Given the description of an element on the screen output the (x, y) to click on. 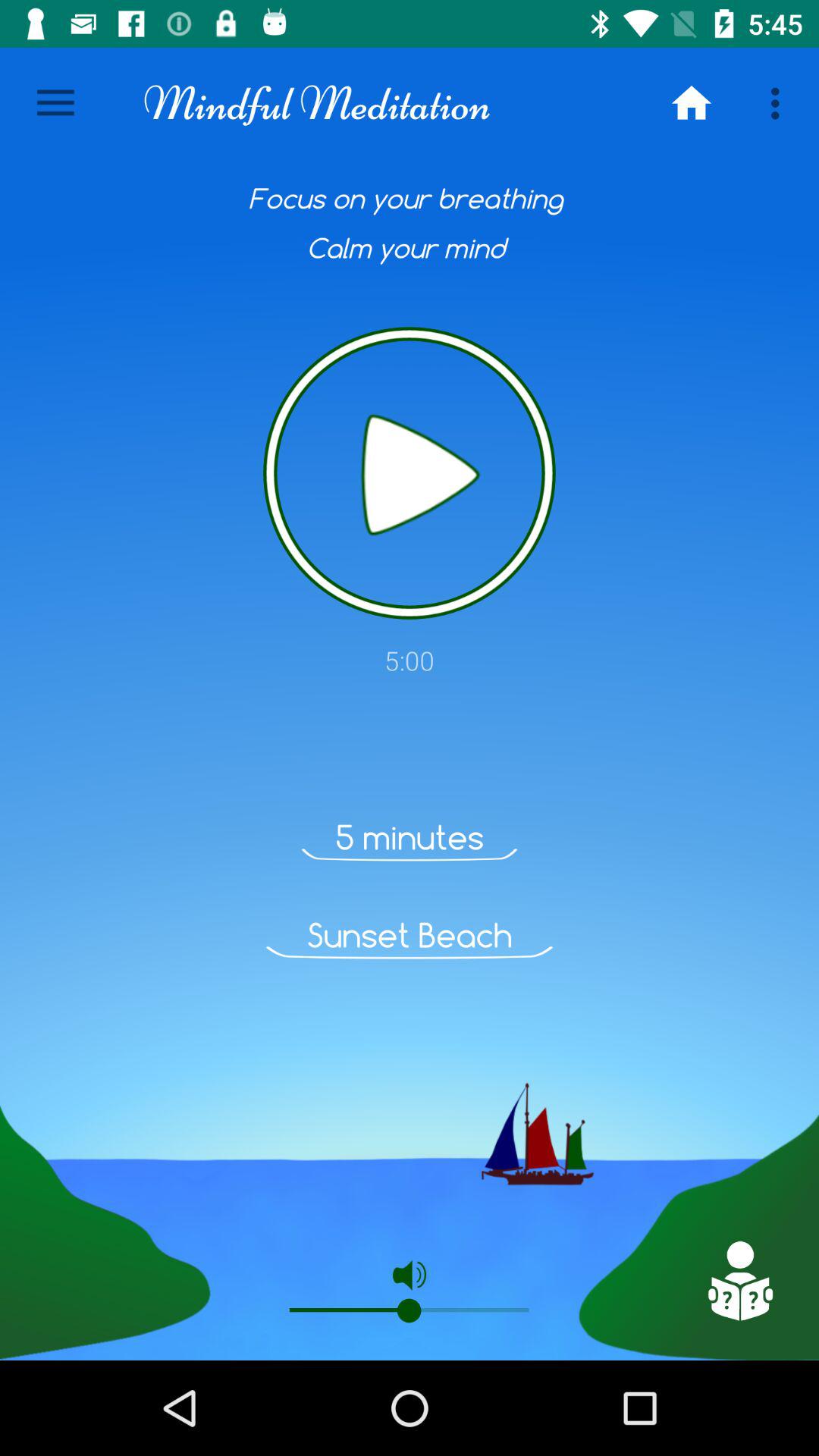
press 5 minutes (409, 837)
